Given the description of an element on the screen output the (x, y) to click on. 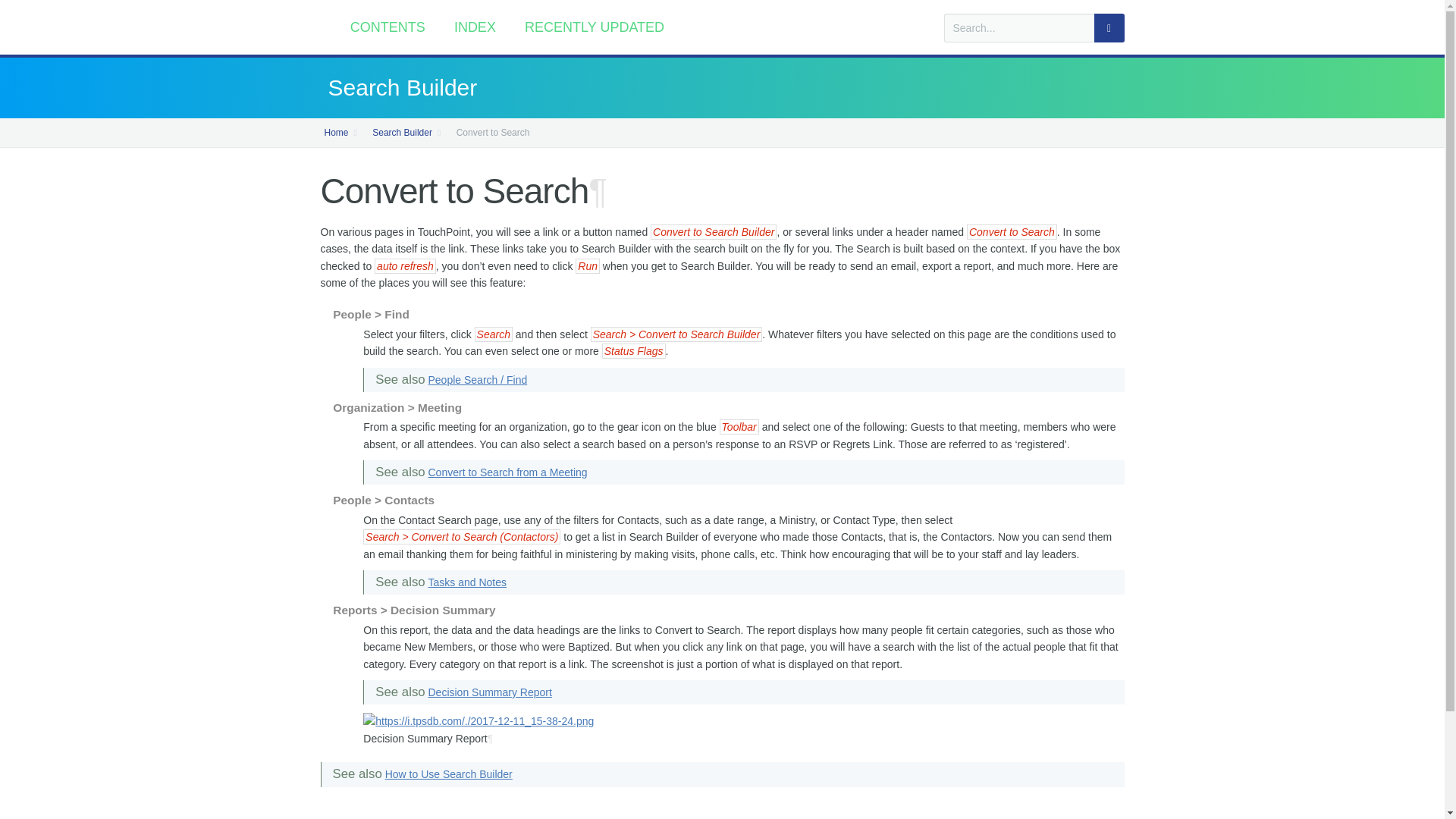
Decision Summary Report (489, 692)
Search Builder (402, 132)
Home (336, 132)
INDEX (474, 27)
Tasks and Notes (467, 582)
How to Use Search Builder (448, 774)
RECENTLY UPDATED (594, 27)
Convert to Search from a Meeting (507, 472)
CONTENTS (387, 27)
Search Builder (721, 87)
